Given the description of an element on the screen output the (x, y) to click on. 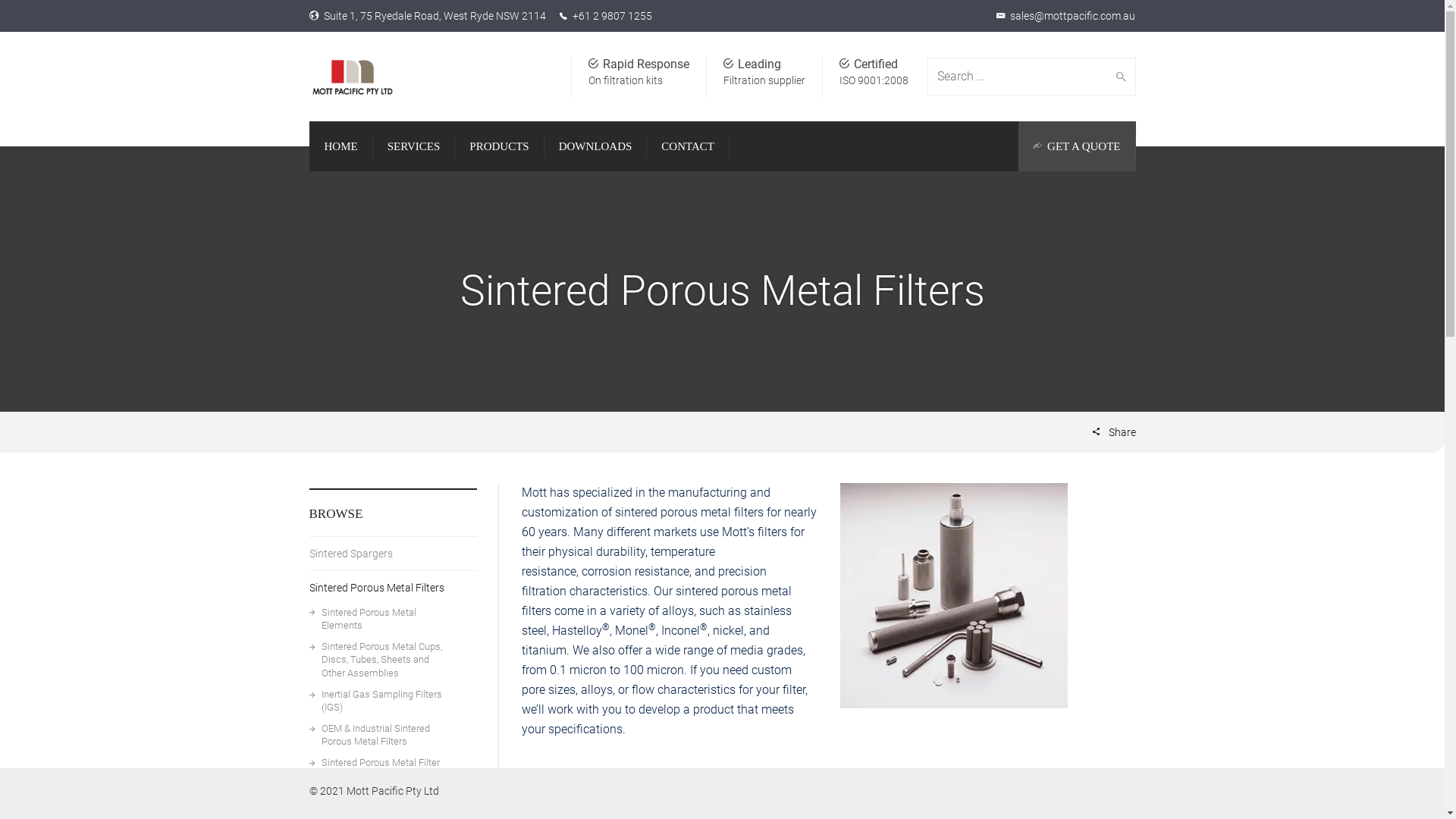
Sintered Porous Metal Filter Cartridges Element type: text (392, 773)
Steam & Vent Filters Element type: text (392, 800)
Sintered Porous Metal Elements Element type: text (392, 620)
CONTACT Element type: text (687, 146)
Sintered Porous Metal Filters Element type: text (392, 585)
DOWNLOADS Element type: text (595, 146)
Inertial Gas Sampling Filters (IGS) Element type: text (392, 704)
GET A QUOTE Element type: text (1076, 146)
Search Element type: text (1117, 76)
Sintered Spargers Element type: text (392, 553)
PRODUCTS Element type: text (498, 146)
OEM & Industrial Sintered Porous Metal Filters Element type: text (392, 738)
SERVICES Element type: text (413, 146)
HOME Element type: text (341, 146)
